Given the description of an element on the screen output the (x, y) to click on. 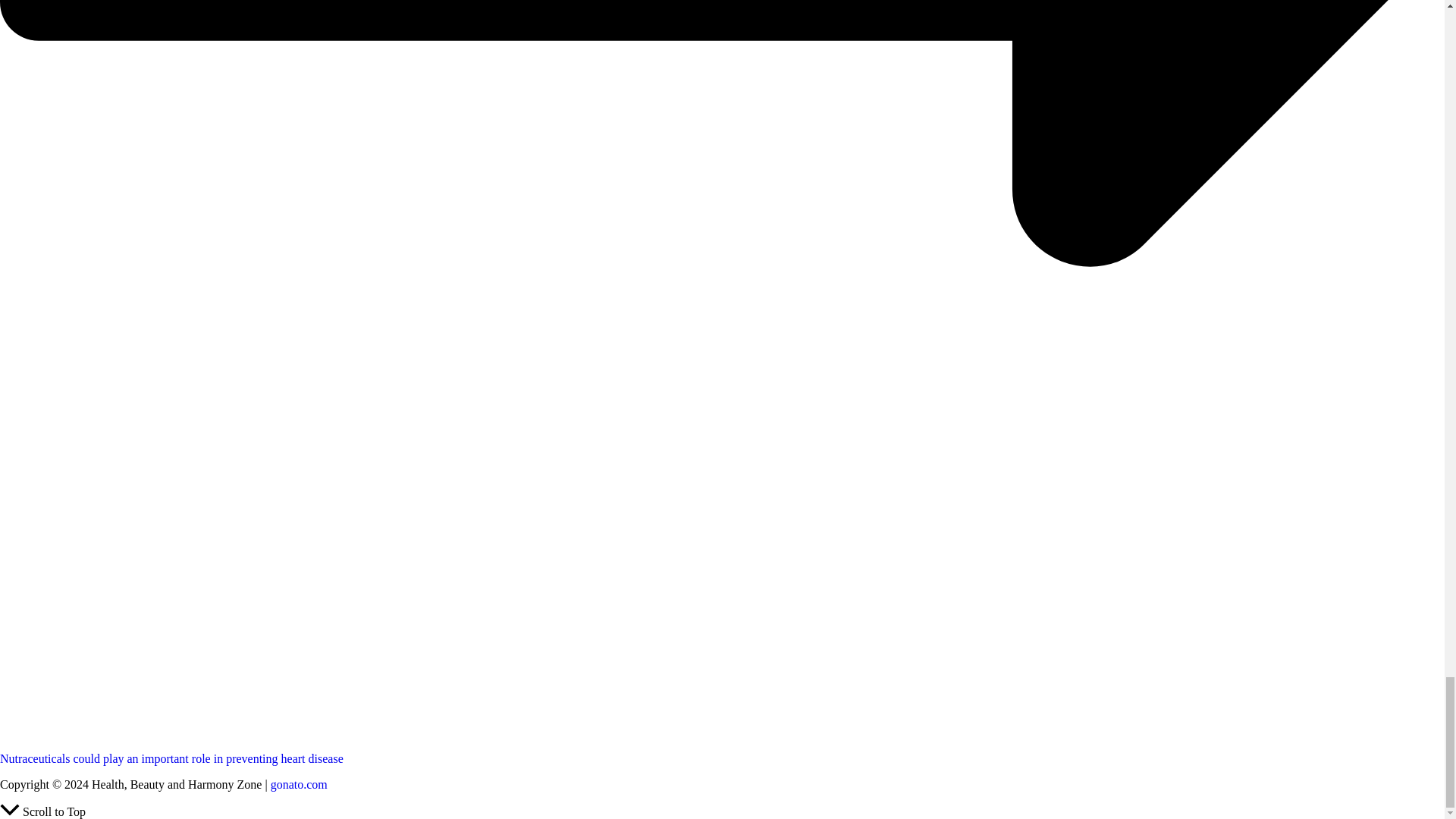
gonato.com (298, 784)
